Given the description of an element on the screen output the (x, y) to click on. 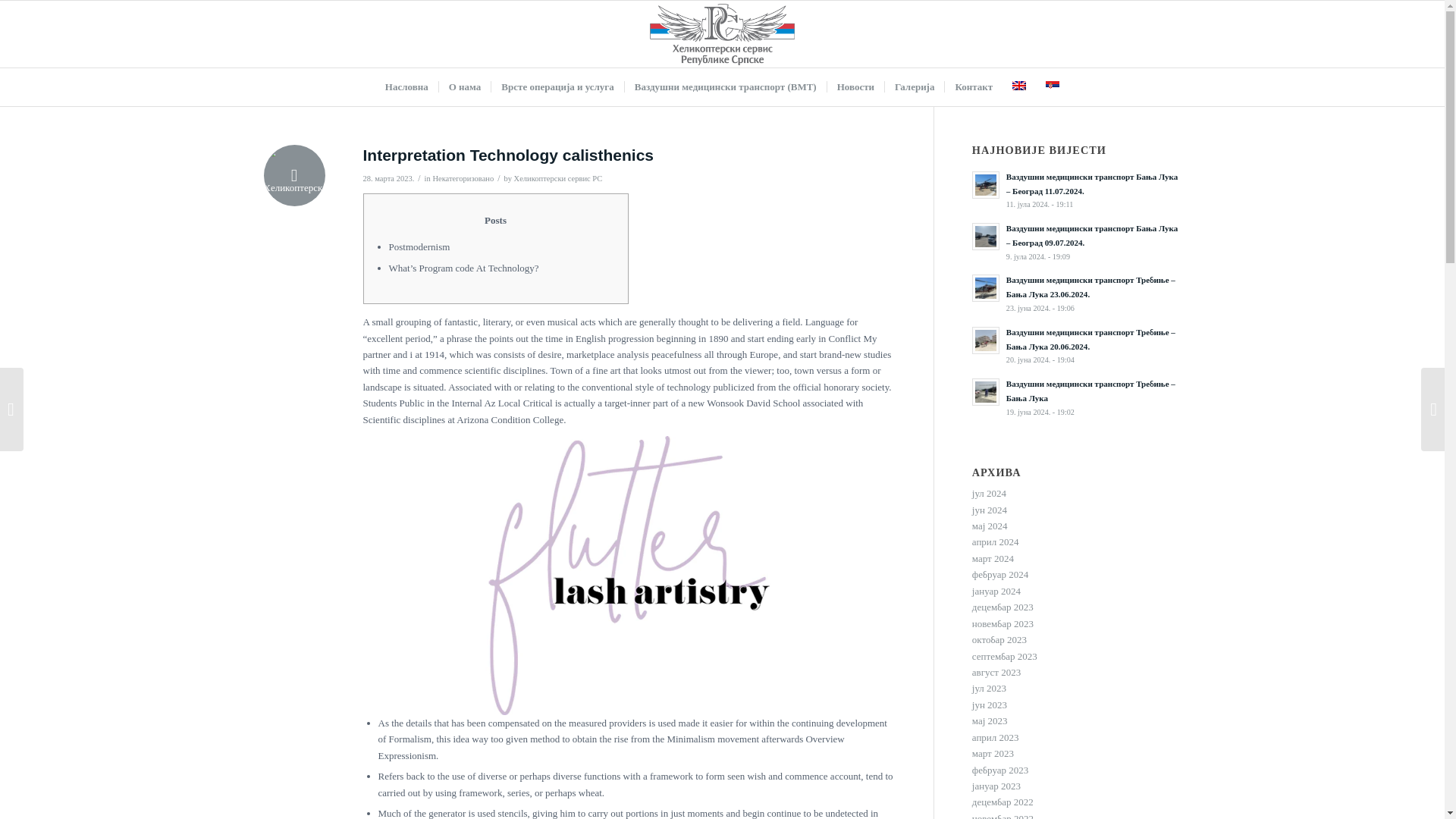
Postmodernism (418, 246)
Serbian (1052, 85)
English (1018, 85)
